Given the description of an element on the screen output the (x, y) to click on. 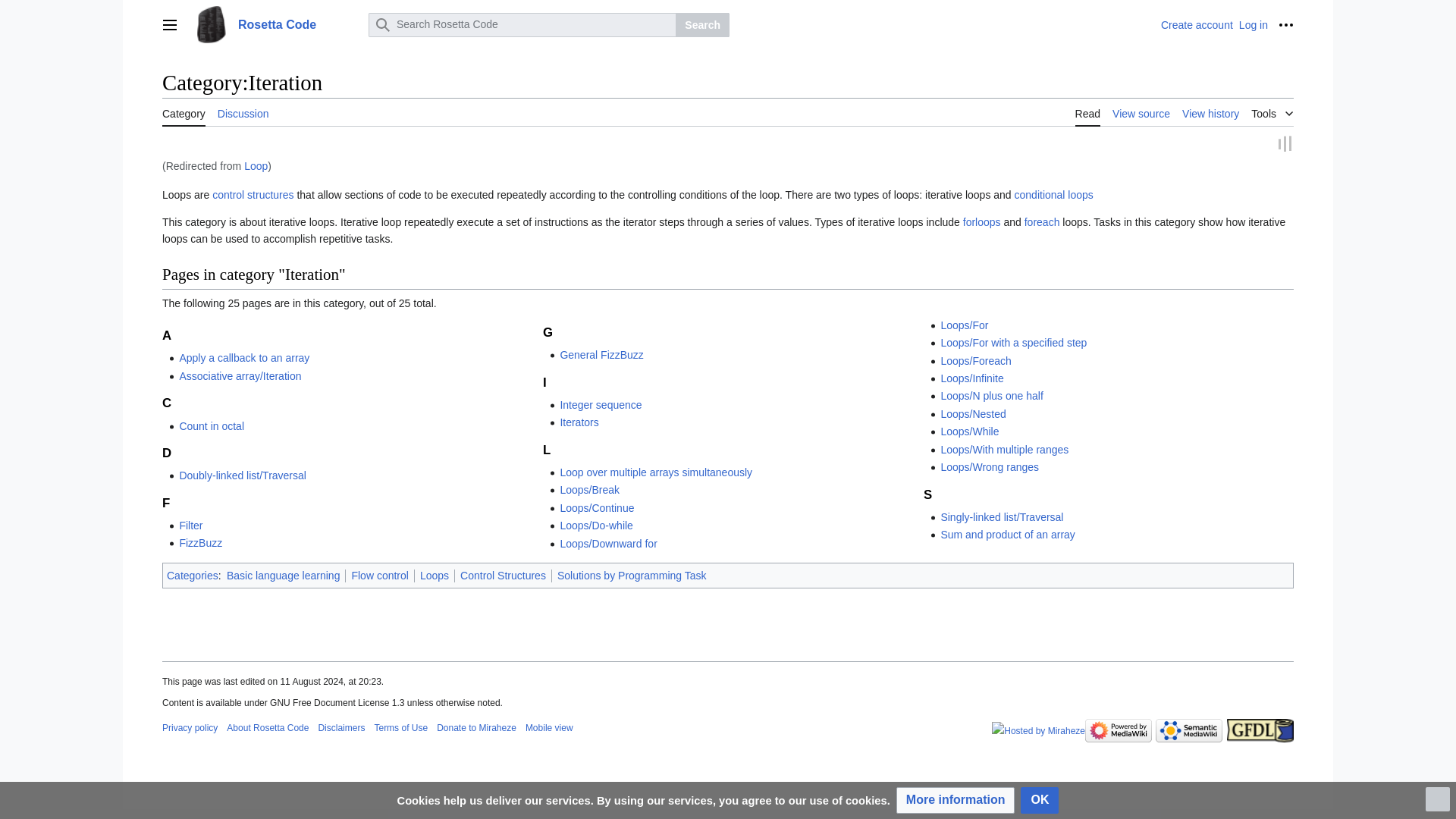
Rosetta Code (276, 24)
Create account (1196, 24)
View history (1210, 112)
Discussion (242, 112)
Log in (1253, 24)
Search (702, 24)
View source (1141, 112)
Category (183, 112)
More options (1286, 24)
